Given the description of an element on the screen output the (x, y) to click on. 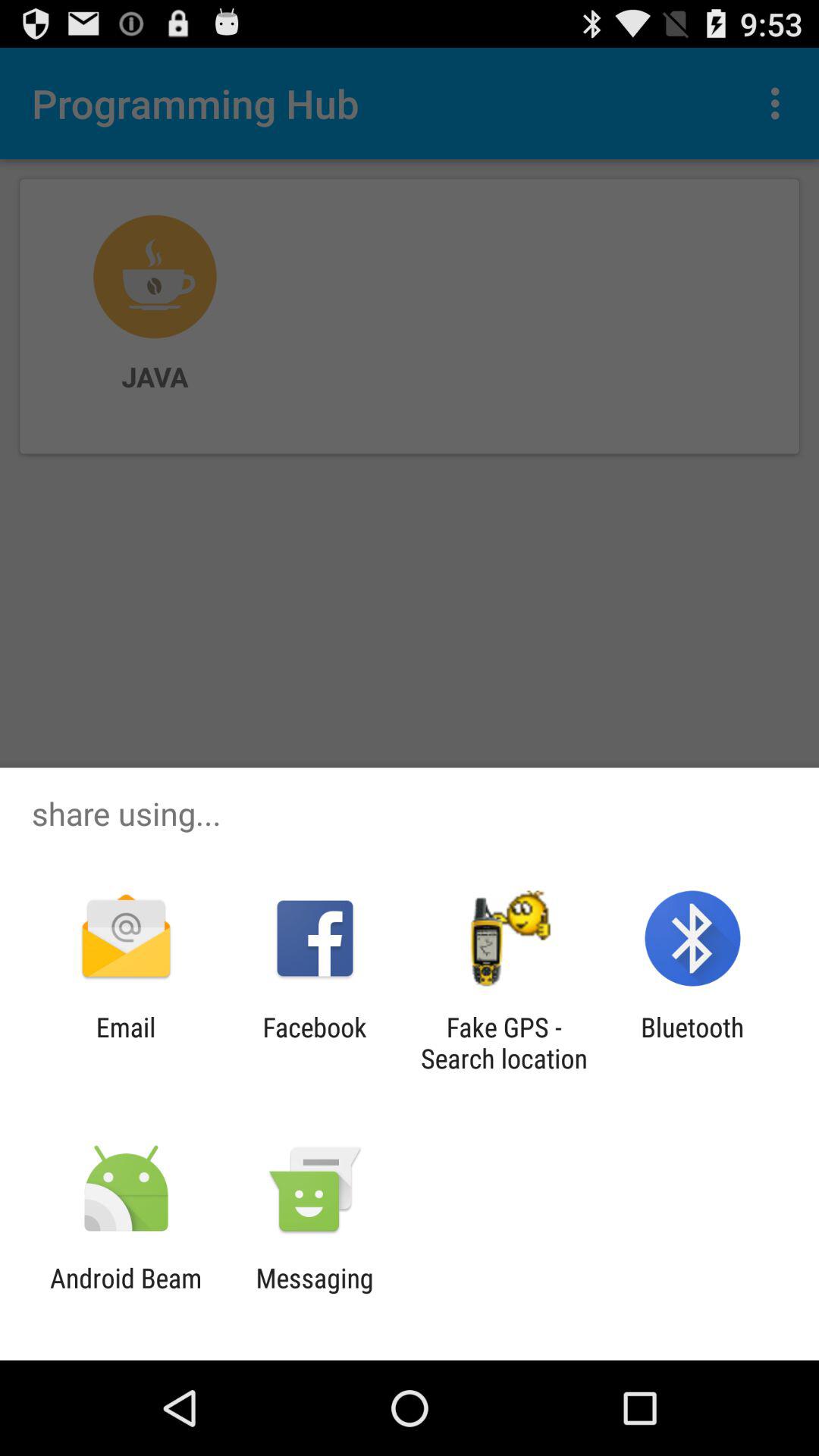
tap bluetooth (691, 1042)
